Given the description of an element on the screen output the (x, y) to click on. 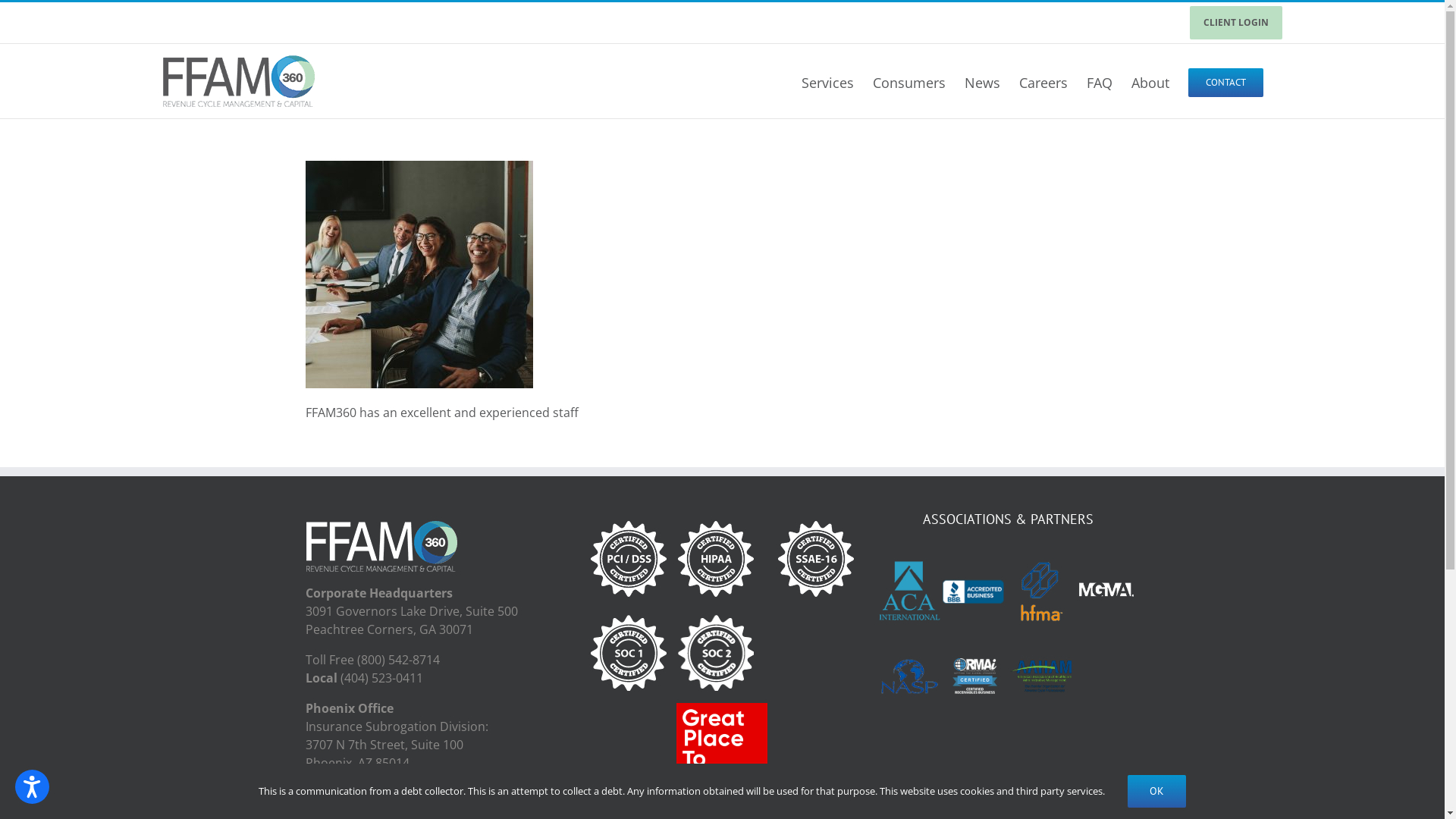
CONTACT Element type: text (1224, 80)
FAQ Element type: text (1098, 80)
Careers Element type: text (1043, 80)
About Element type: text (1150, 80)
Consumers Element type: text (908, 80)
News Element type: text (982, 80)
CLIENT LOGIN Element type: text (1235, 22)
OK Element type: text (1156, 791)
Services Element type: text (826, 80)
